Given the description of an element on the screen output the (x, y) to click on. 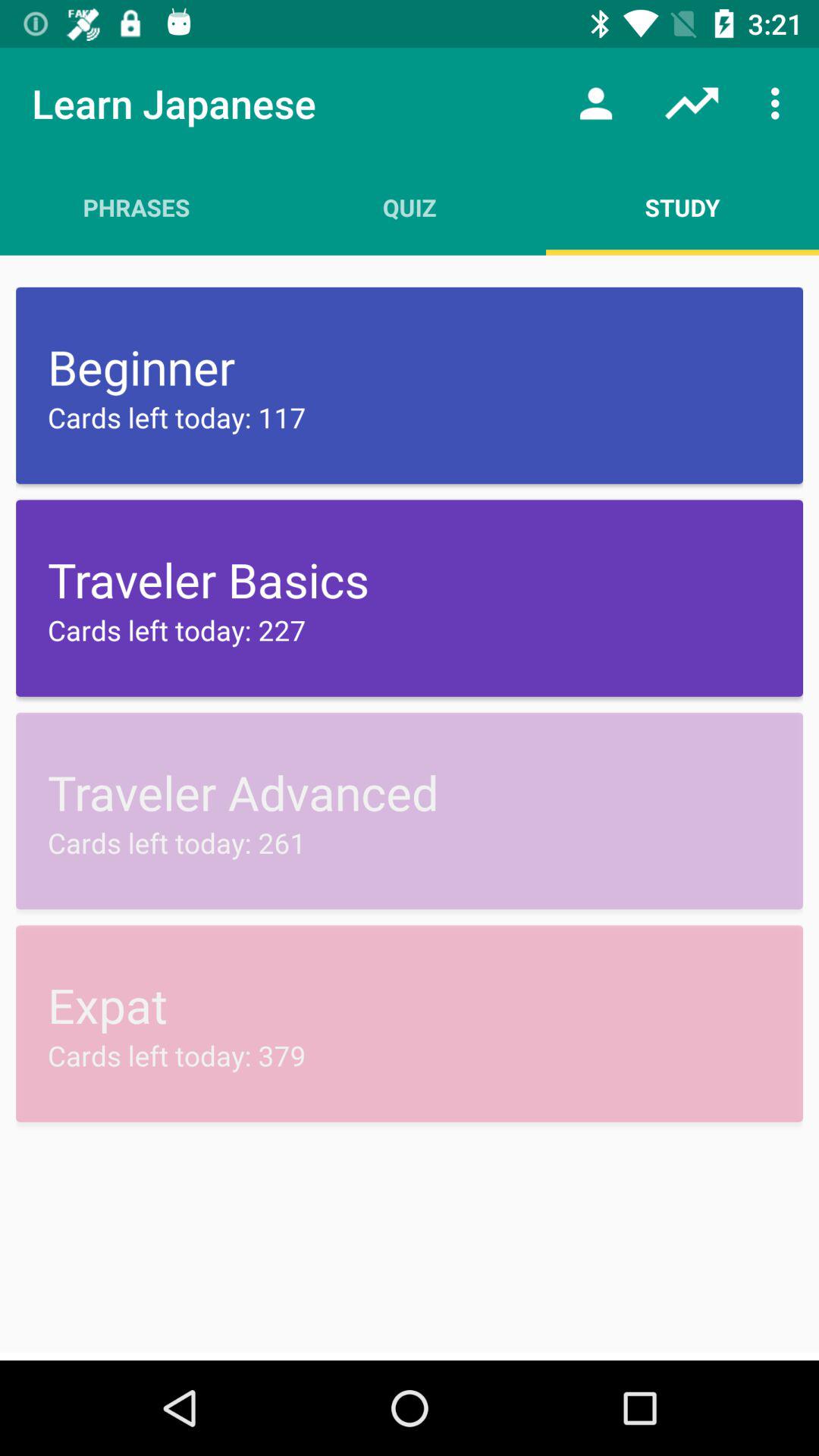
press app to the right of the quiz item (682, 207)
